Given the description of an element on the screen output the (x, y) to click on. 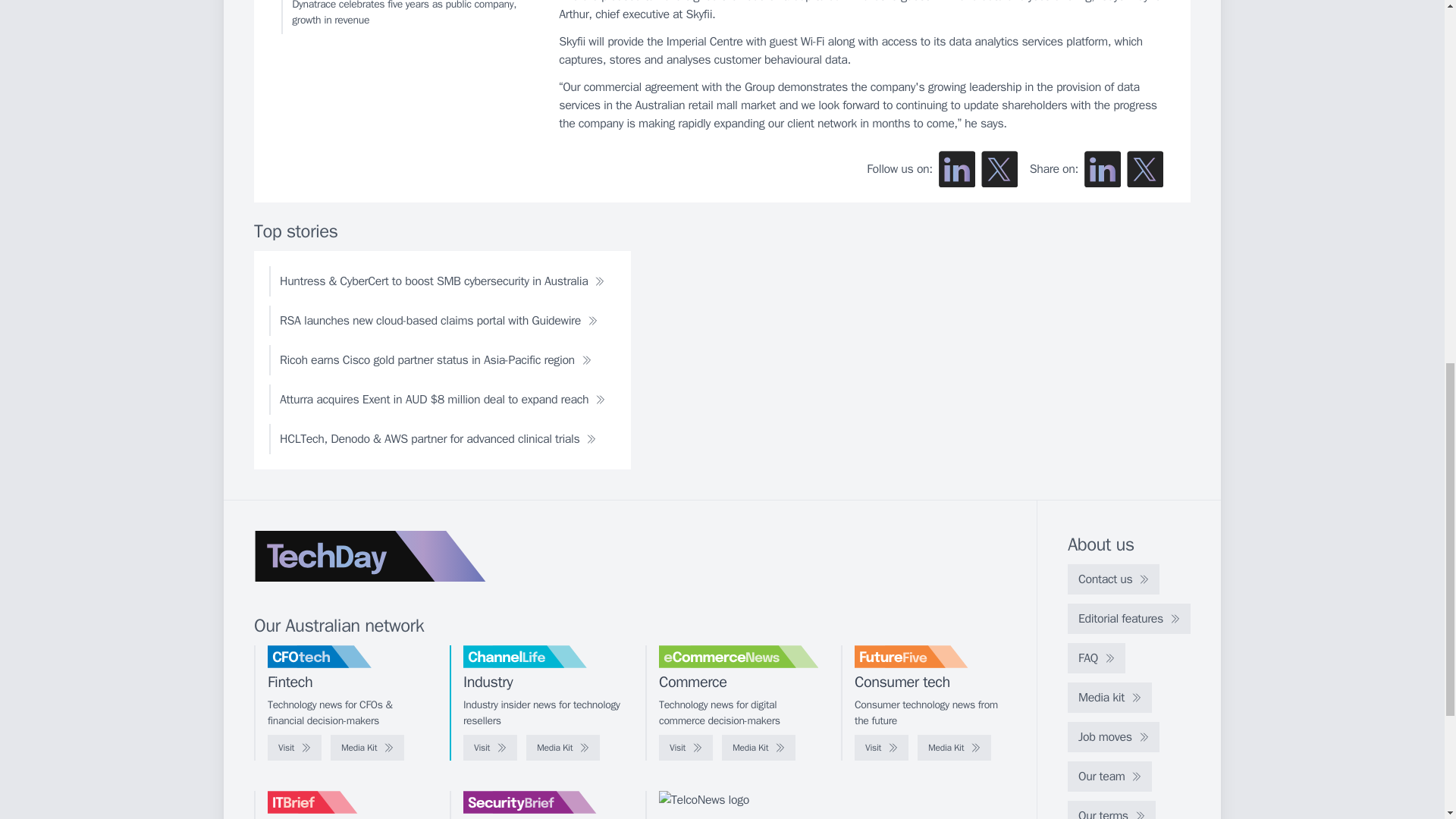
Visit (489, 747)
Visit (686, 747)
Ricoh earns Cisco gold partner status in Asia-Pacific region (435, 359)
Media Kit (562, 747)
Media Kit (758, 747)
Media Kit (367, 747)
RSA launches new cloud-based claims portal with Guidewire (438, 320)
Media Kit (954, 747)
Visit (294, 747)
